Given the description of an element on the screen output the (x, y) to click on. 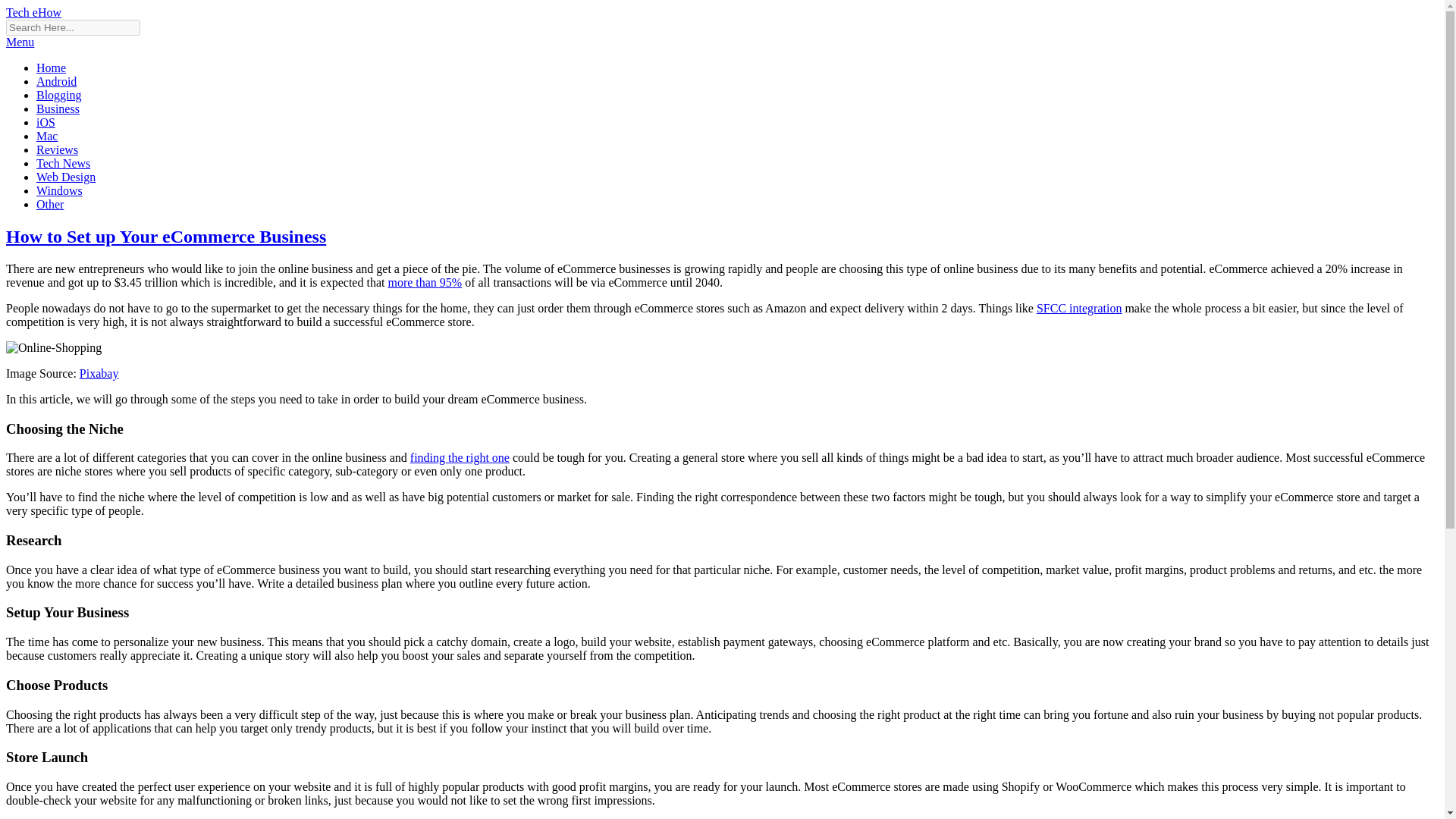
Home (50, 67)
Blogging (58, 94)
Other (50, 204)
Mac (47, 135)
Tech eHow (33, 11)
Business (58, 108)
Reviews (57, 149)
finding the right one (459, 457)
iOS (45, 122)
SFCC integration (1078, 308)
Web Design (66, 176)
Pixabay (99, 373)
Menu (19, 42)
How to Set up Your eCommerce Business (165, 236)
Tech News (63, 163)
